Given the description of an element on the screen output the (x, y) to click on. 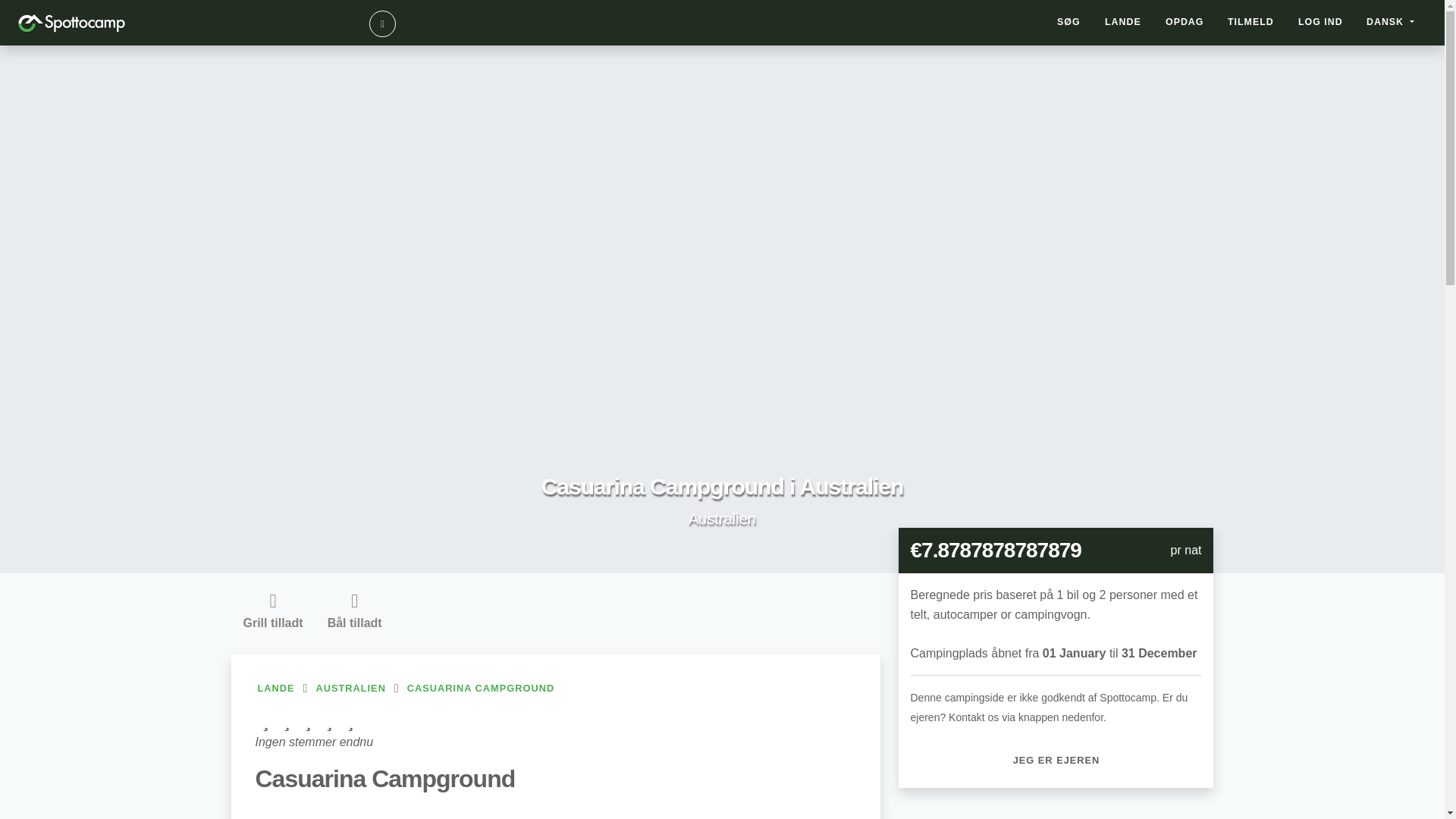
LOG IND (1320, 22)
LANDE (275, 688)
CASUARINA CAMPGROUND (480, 688)
JEG ER EJEREN (1055, 760)
TILMELD (1250, 22)
AUSTRALIEN (350, 688)
LANDE (555, 688)
OPDAG (1123, 22)
